Given the description of an element on the screen output the (x, y) to click on. 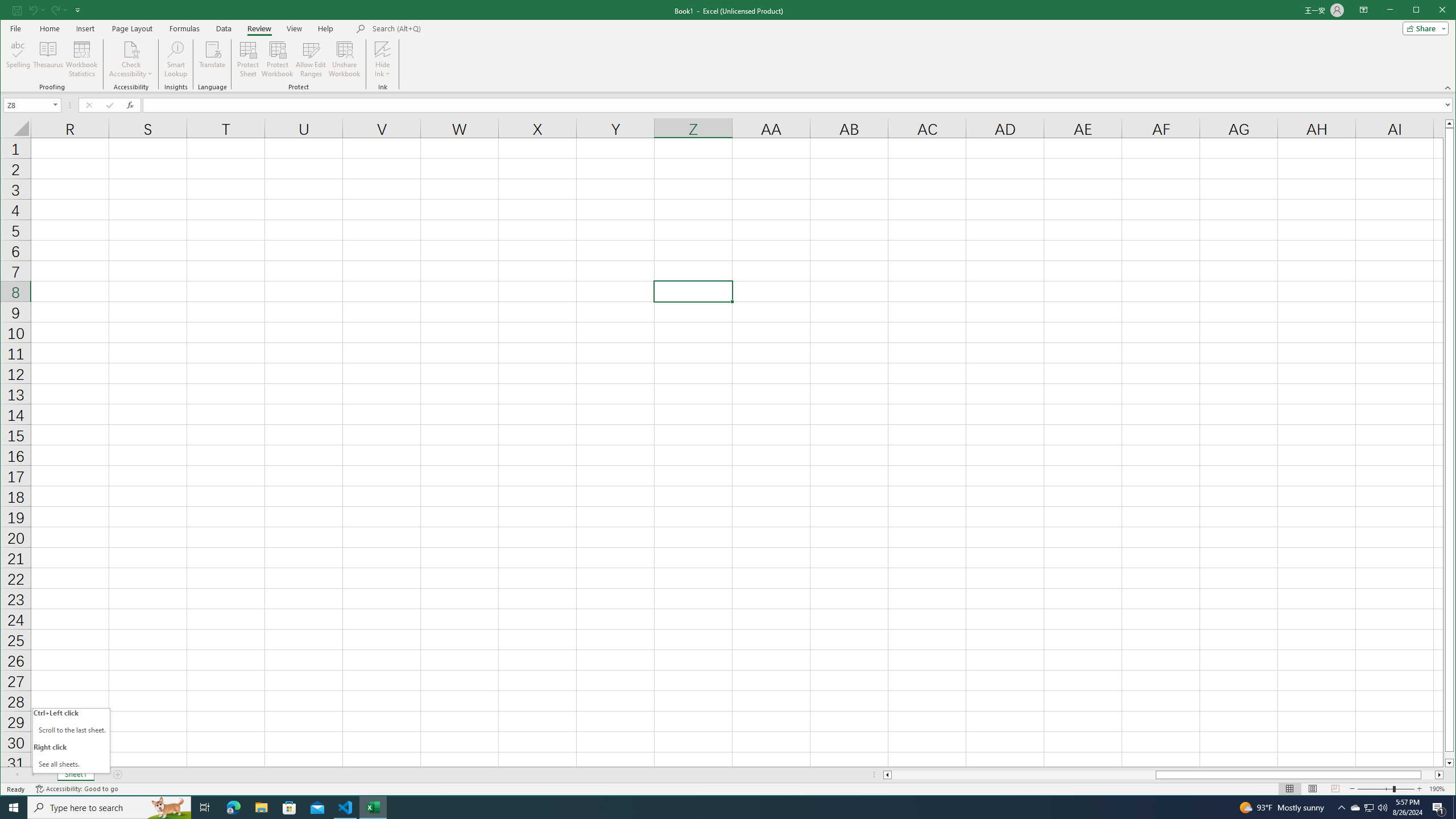
Spelling... (18, 59)
Start (13, 807)
Maximize (1432, 11)
File Explorer (261, 807)
Notification Chevron (1341, 807)
Excel - 1 running window (373, 807)
